Given the description of an element on the screen output the (x, y) to click on. 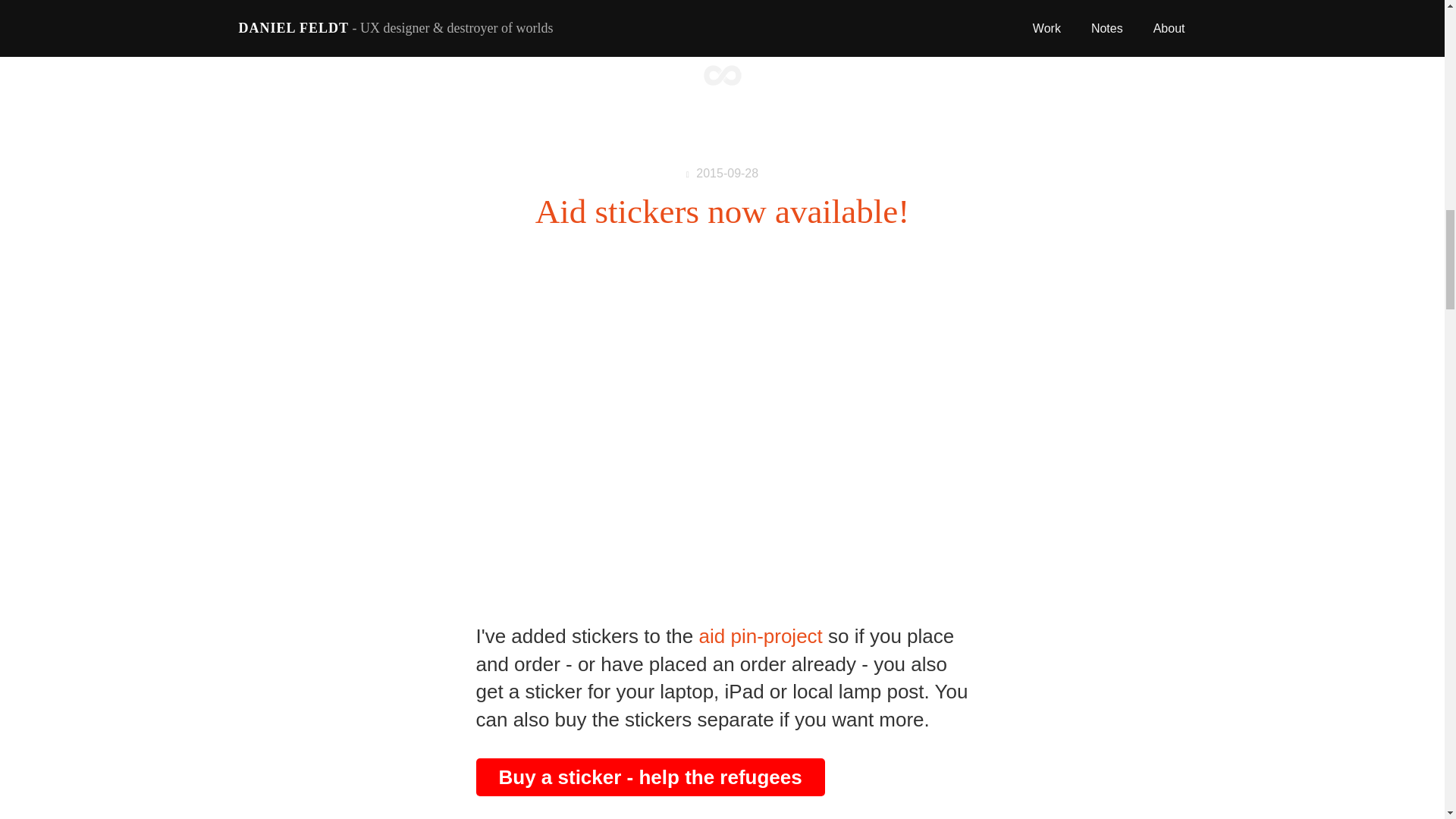
Aid stickers now available! (722, 211)
Buy a sticker - help the refugees (650, 777)
aid pin-project (760, 635)
